Given the description of an element on the screen output the (x, y) to click on. 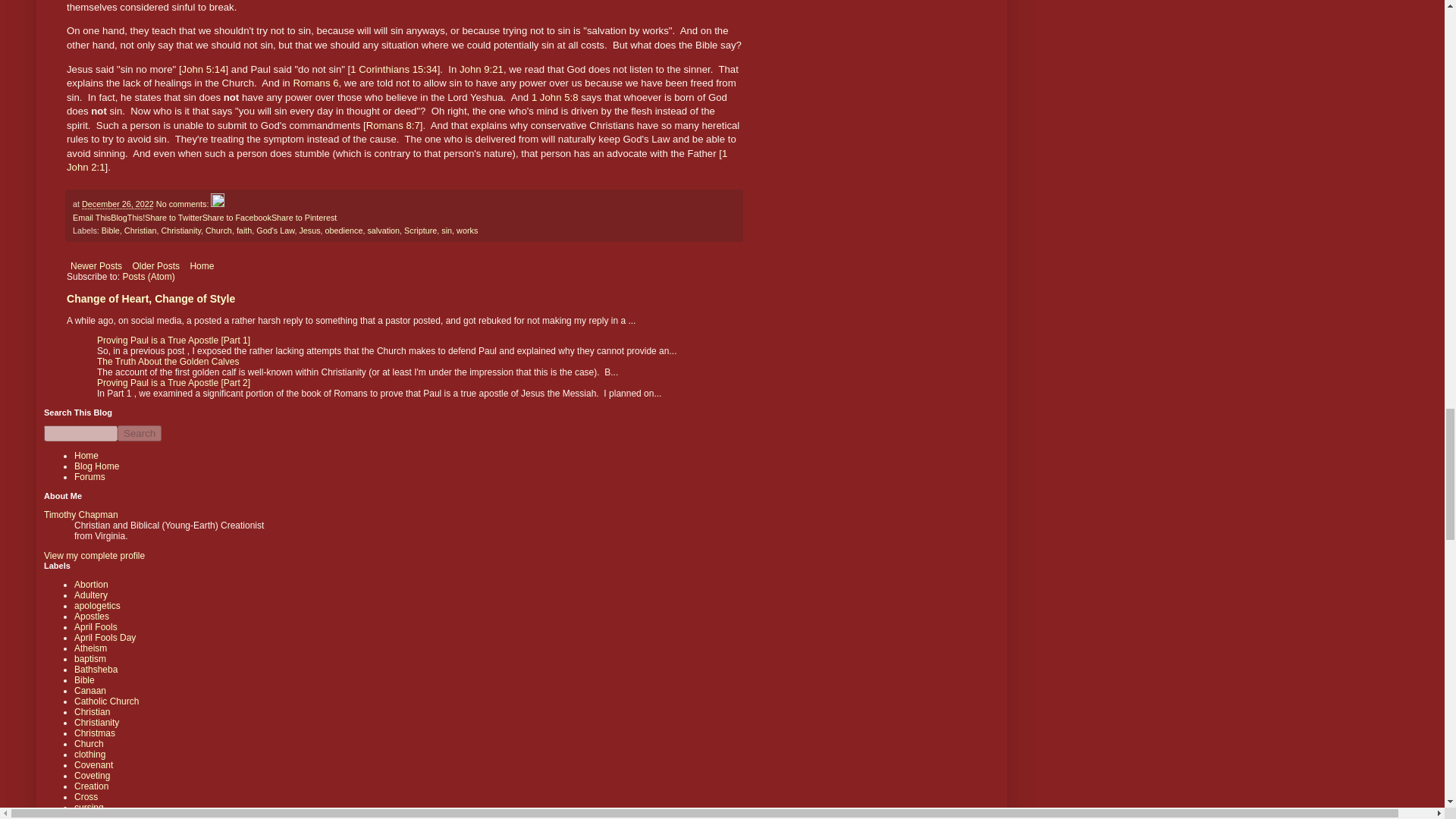
BlogThis! (127, 216)
Share to Pinterest (303, 216)
Email This (91, 216)
permanent link (117, 203)
Search (139, 433)
Edit Post (217, 203)
Share to Twitter (173, 216)
Search (139, 433)
Older Posts (155, 266)
Share to Facebook (236, 216)
Newer Posts (95, 266)
search (139, 433)
search (80, 433)
